Given the description of an element on the screen output the (x, y) to click on. 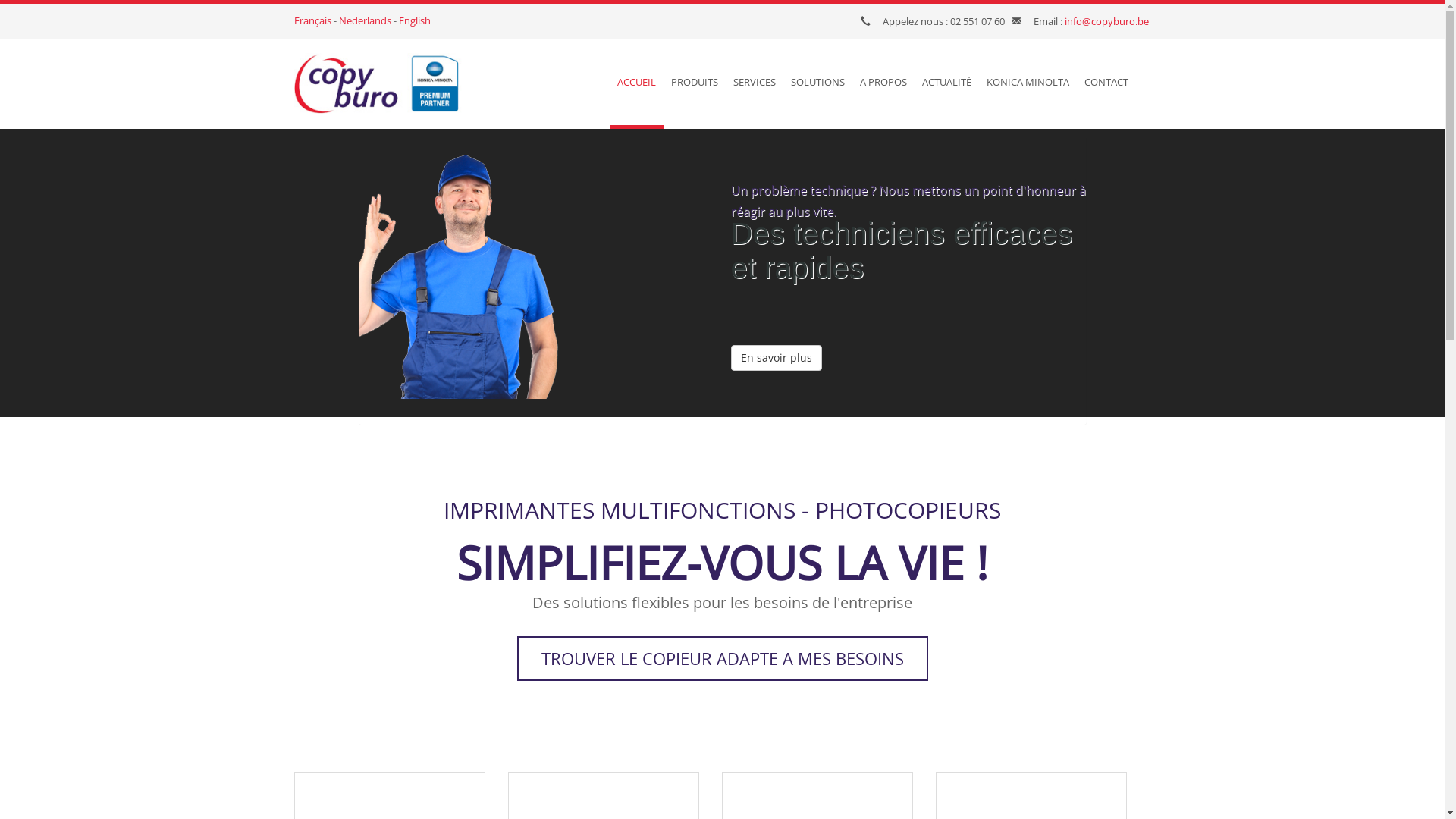
SOLUTIONS Element type: text (816, 83)
KONICA MINOLTA Element type: text (1027, 83)
Nederlands Element type: text (364, 20)
info@copyburo.be Element type: text (1106, 21)
PRODUITS Element type: text (693, 83)
En savoir plus Element type: text (776, 322)
A PROPOS Element type: text (883, 83)
CONTACT Element type: text (1105, 83)
TROUVER LE COPIEUR ADAPTE A MES BESOINS Element type: text (722, 658)
English Element type: text (414, 20)
ACCUEIL Element type: text (636, 83)
SERVICES Element type: text (753, 83)
